Given the description of an element on the screen output the (x, y) to click on. 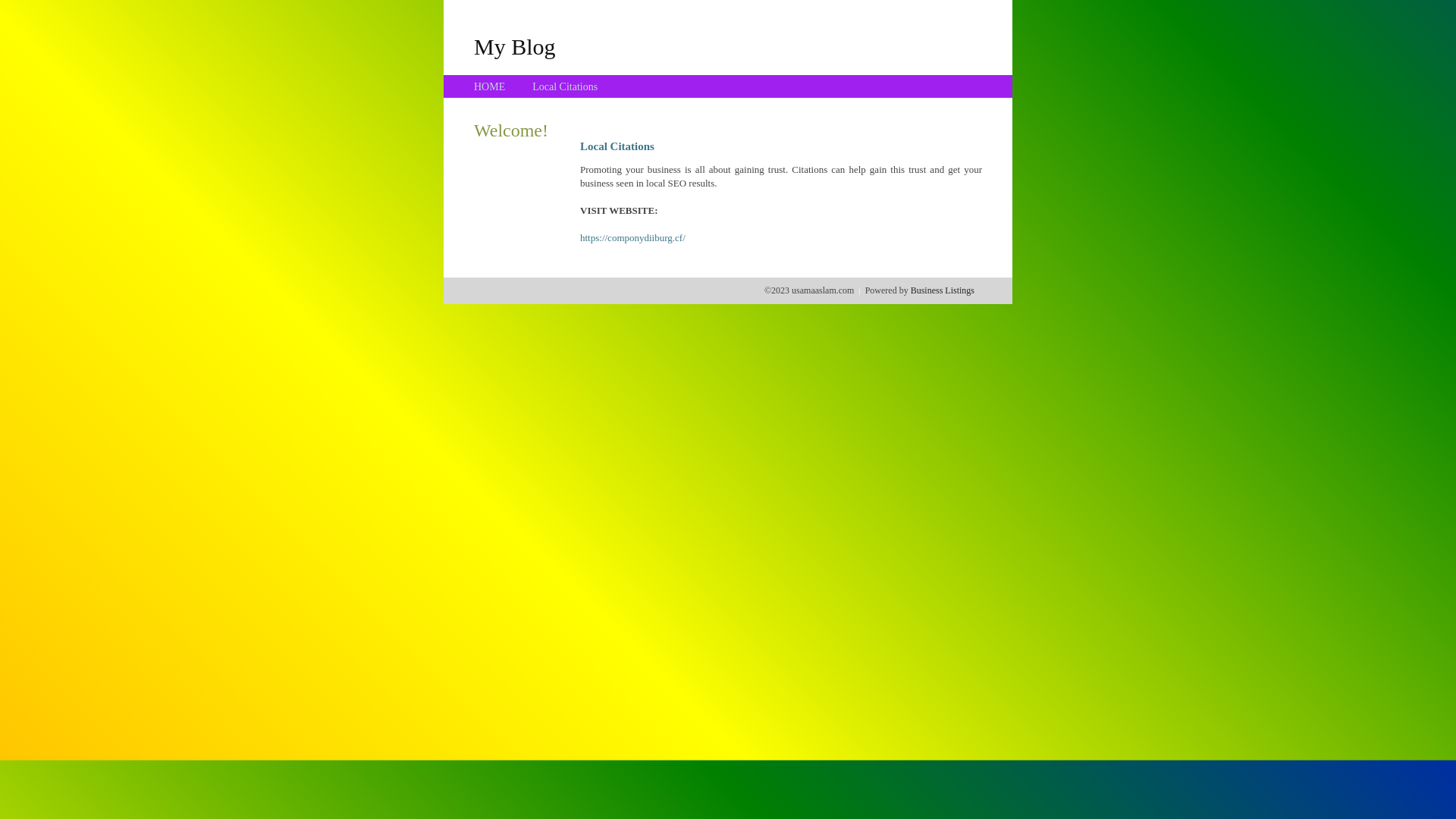
HOME Element type: text (489, 86)
Local Citations Element type: text (564, 86)
Business Listings Element type: text (942, 290)
My Blog Element type: text (514, 46)
https://componydiiburg.cf/ Element type: text (632, 237)
